Given the description of an element on the screen output the (x, y) to click on. 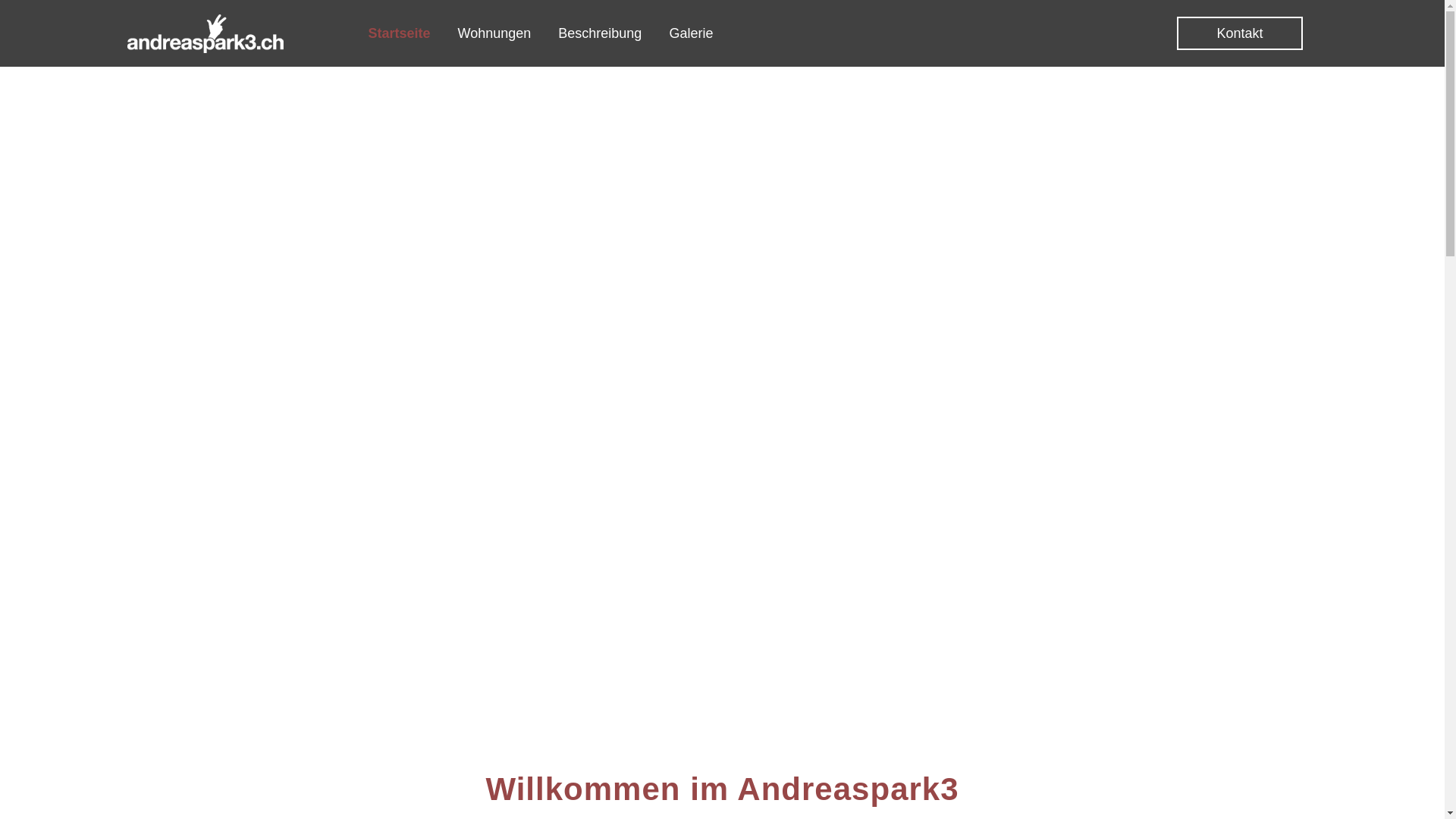
Beschreibung Element type: text (599, 33)
Kontakt Element type: text (1239, 33)
Wohnungen Element type: text (494, 33)
Galerie Element type: text (690, 33)
Startseite Element type: text (399, 33)
